Given the description of an element on the screen output the (x, y) to click on. 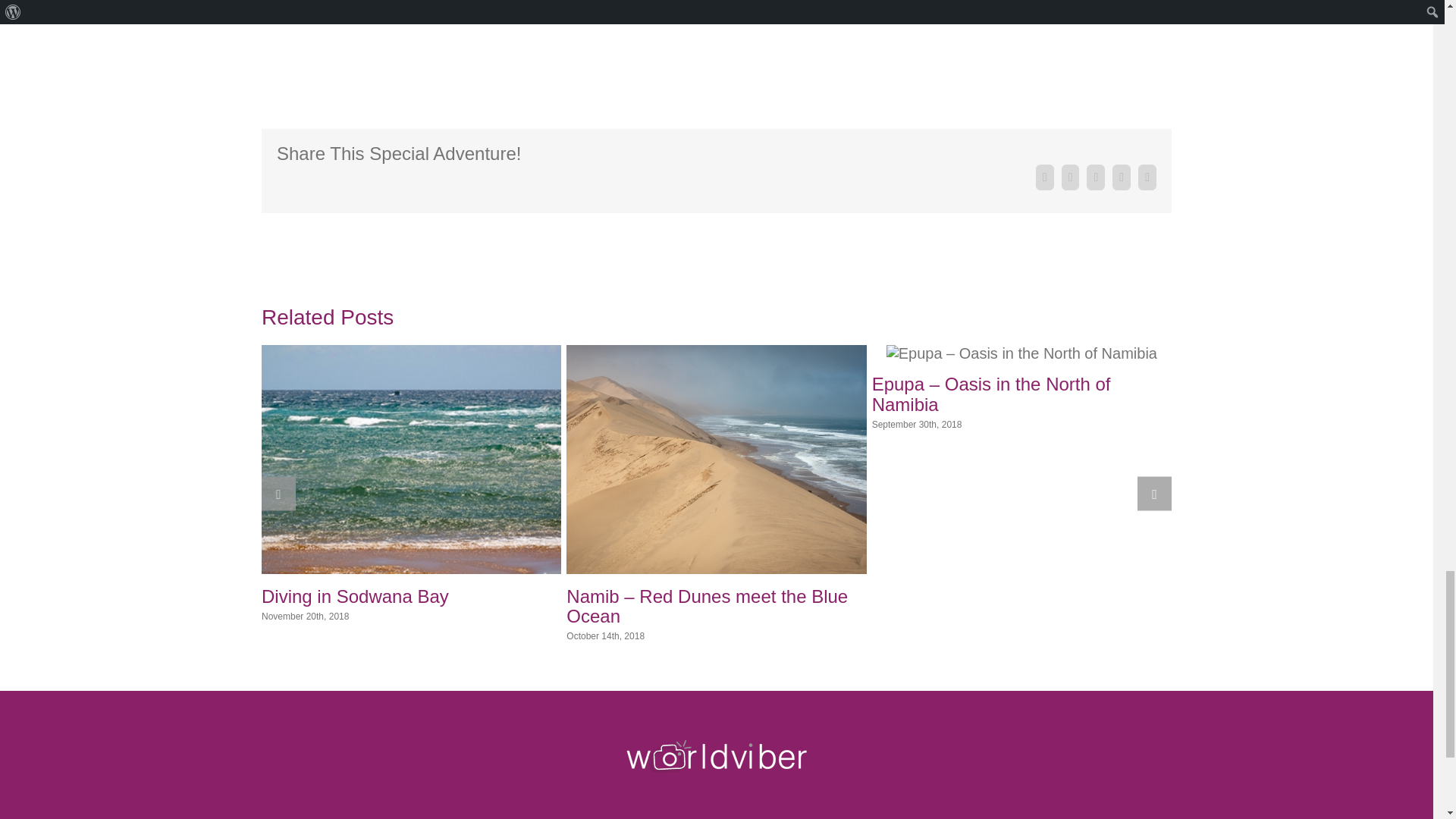
Red Sea diving tour 2019 (717, 22)
